Given the description of an element on the screen output the (x, y) to click on. 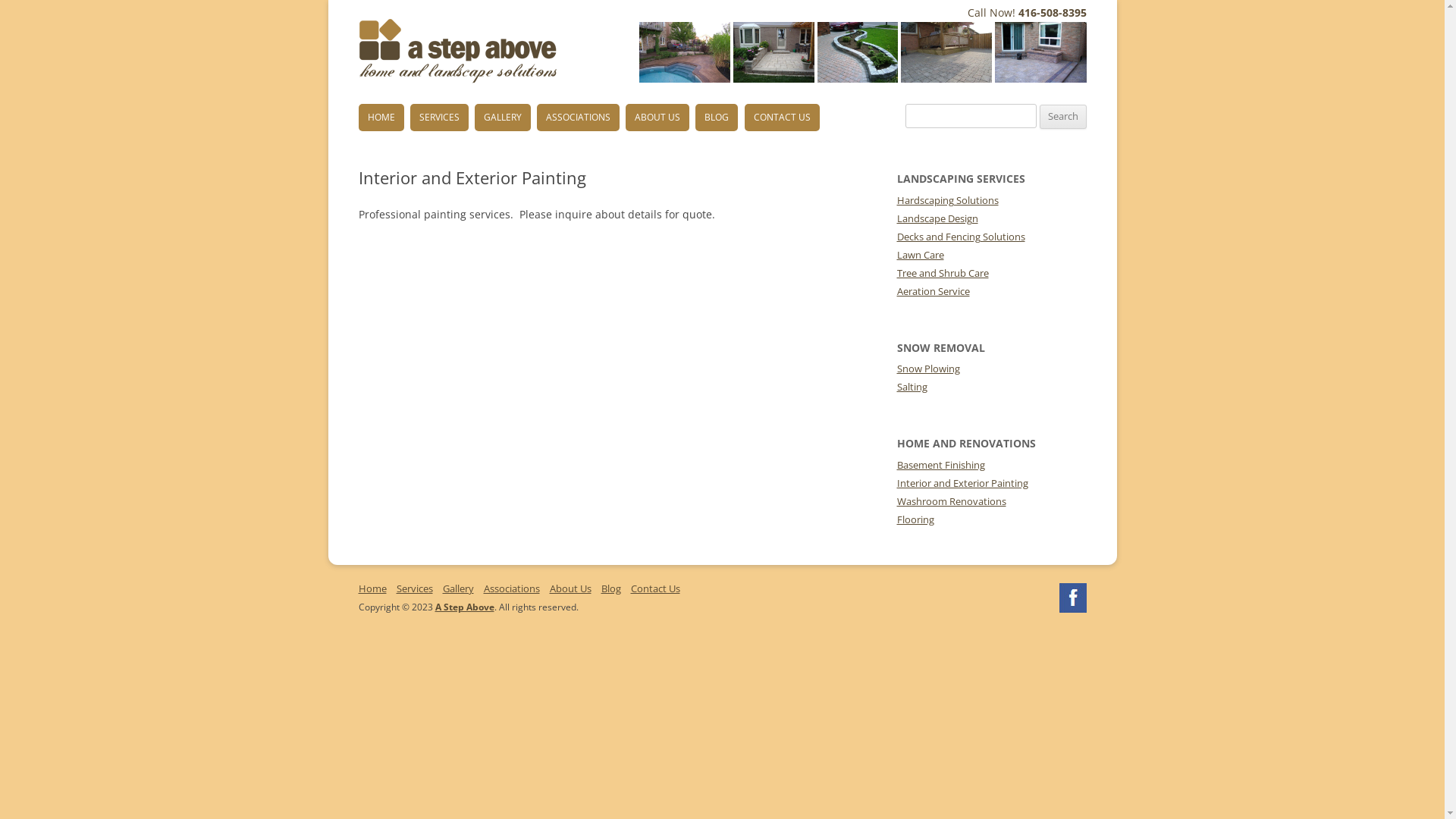
Gallery Element type: text (457, 588)
Contact Us Element type: text (655, 588)
Aeration Service Element type: text (932, 291)
Tree and Shrub Care Element type: text (942, 272)
HOME Element type: text (380, 117)
ABOUT US Element type: text (657, 117)
Skip to content Element type: text (721, 103)
ASA Contracting Element type: text (437, 103)
Blog Element type: text (610, 588)
Services Element type: text (413, 588)
View our Gallery Element type: hover (862, 78)
CONTACT US Element type: text (781, 117)
Flooring Element type: text (914, 519)
BLOG Element type: text (716, 117)
GALLERY Element type: text (502, 117)
SERVICES Element type: text (439, 117)
Interior and Exterior Painting Element type: text (961, 482)
Associations Element type: text (511, 588)
ASSOCIATIONS Element type: text (577, 117)
Decks and Fencing Solutions Element type: text (960, 236)
A Step Above Element type: text (464, 606)
About Us Element type: text (569, 588)
Basement Finishing Element type: text (940, 464)
Salting Element type: text (911, 386)
Hardscaping Solutions Element type: text (946, 200)
Landscape Design Element type: text (936, 218)
Snow Plowing Element type: text (927, 368)
Home Element type: text (371, 588)
Washroom Renovations Element type: text (950, 501)
Lawn Care Element type: text (919, 254)
Search Element type: text (1061, 116)
